Given the description of an element on the screen output the (x, y) to click on. 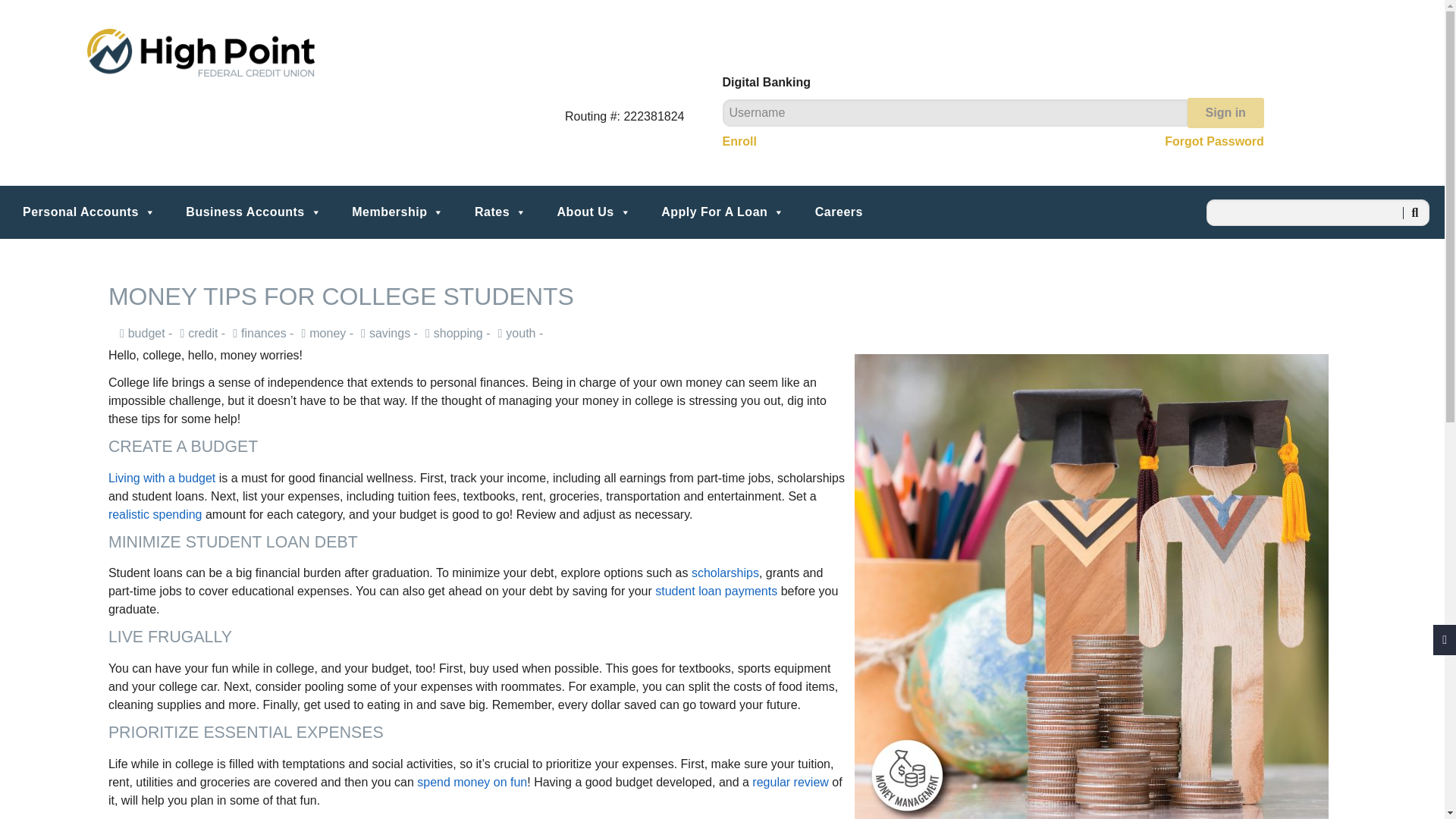
Business Accounts (253, 212)
Membership (397, 212)
Sign in (1225, 112)
Enroll (738, 141)
Forgot Password (1213, 141)
Personal Accounts (88, 212)
